Given the description of an element on the screen output the (x, y) to click on. 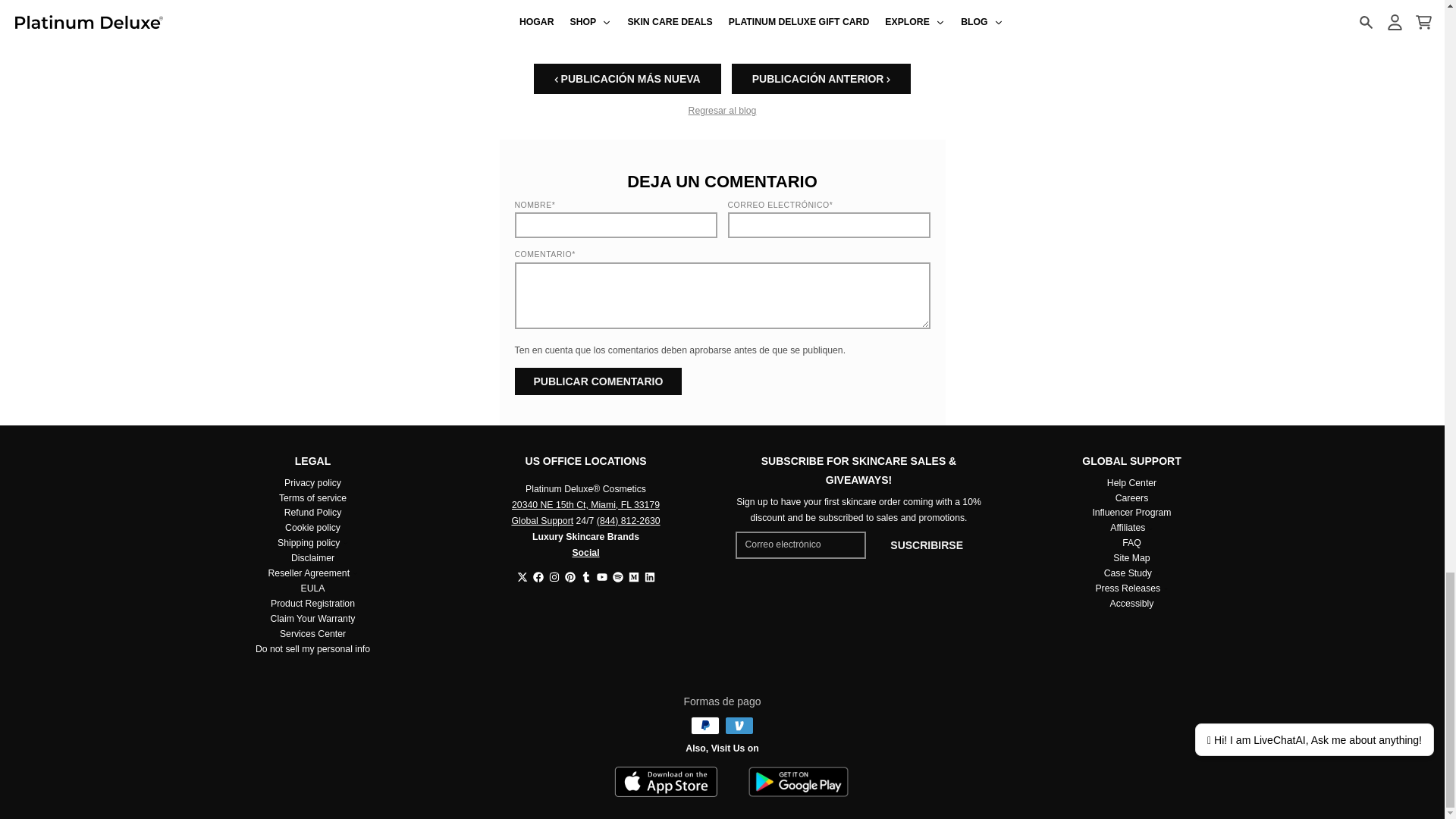
Spotify - Platinum Deluxe Cosmetics (617, 576)
Facebook - Platinum Deluxe Cosmetics (537, 576)
Medium - Platinum Deluxe Cosmetics (633, 576)
LinkedIn - Platinum Deluxe Cosmetics (650, 576)
YouTube - Platinum Deluxe Cosmetics (601, 576)
Publicar comentario (597, 380)
Twitter - Platinum Deluxe Cosmetics (521, 576)
Tumblr - Platinum Deluxe Cosmetics (585, 576)
Instagram - Platinum Deluxe Cosmetics (553, 576)
Pinterest - Platinum Deluxe Cosmetics (569, 576)
